Given the description of an element on the screen output the (x, y) to click on. 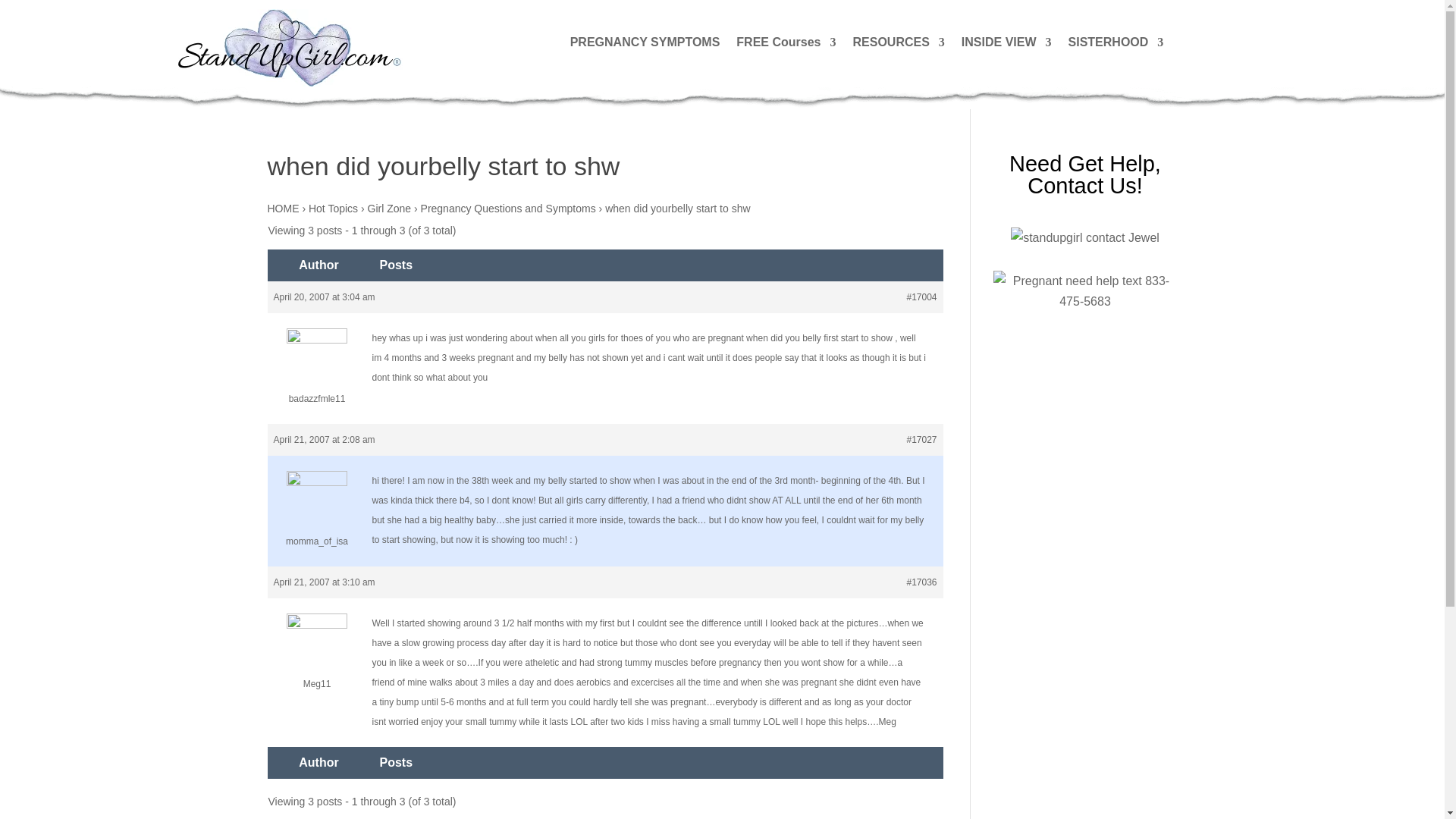
INSIDE VIEW (1005, 45)
standupgirl.com (288, 47)
RESOURCES (897, 45)
SISTERHOOD (1115, 45)
FREE Courses (785, 45)
PREGNANCY SYMPTOMS (645, 45)
